Given the description of an element on the screen output the (x, y) to click on. 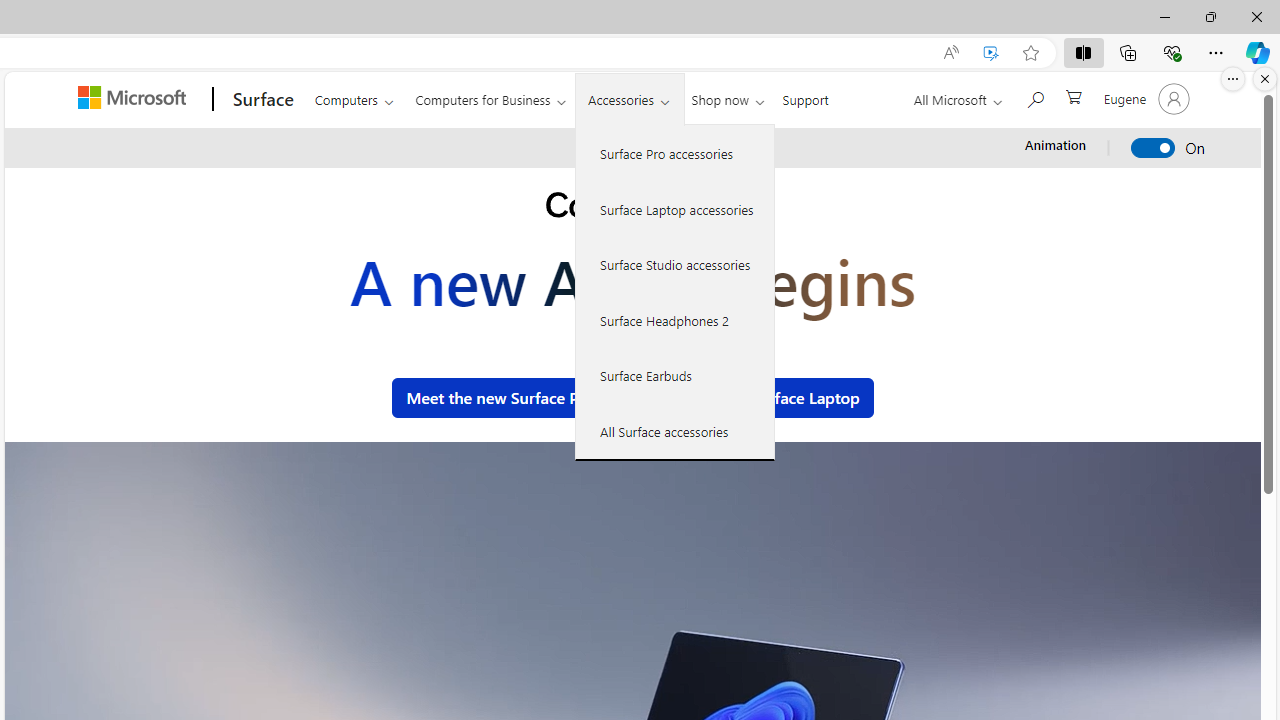
Surface Laptop accessories (675, 208)
Surface Earbuds (675, 375)
Support (805, 96)
Account manager for Eugene (1144, 98)
Surface Studio accessories (675, 264)
Surface Headphones 2 (675, 319)
Surface Earbuds (675, 375)
All Surface accessories (675, 431)
Surface Pro accessories (675, 153)
